Given the description of an element on the screen output the (x, y) to click on. 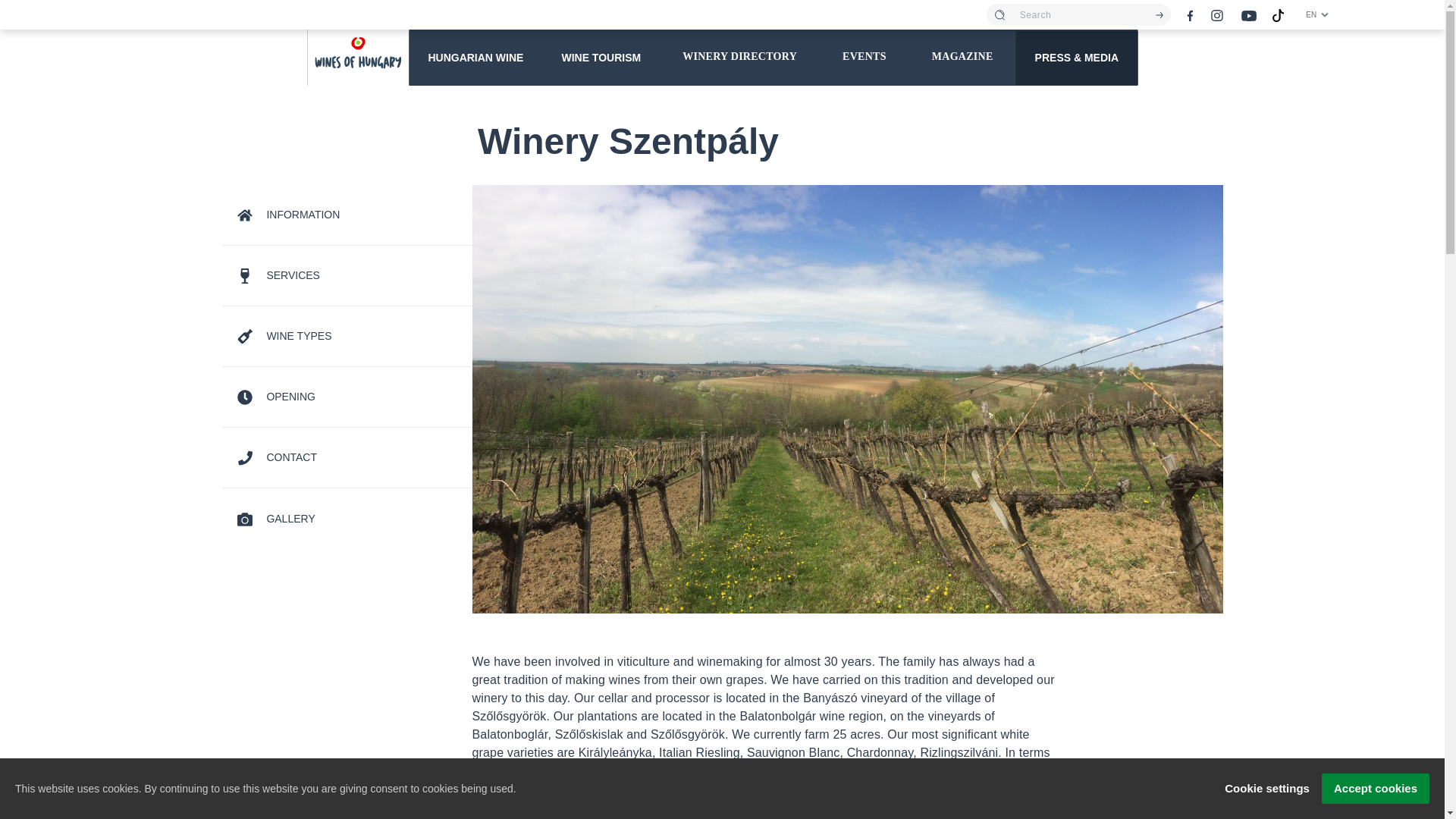
CONTACT (276, 457)
OPENING (274, 396)
WINE TYPES (283, 335)
HUNGARIAN WINE (475, 56)
GALLERY (274, 519)
SERVICES (276, 275)
EN (1317, 14)
WINE TOURISM (601, 56)
INFORMATION (287, 214)
